Given the description of an element on the screen output the (x, y) to click on. 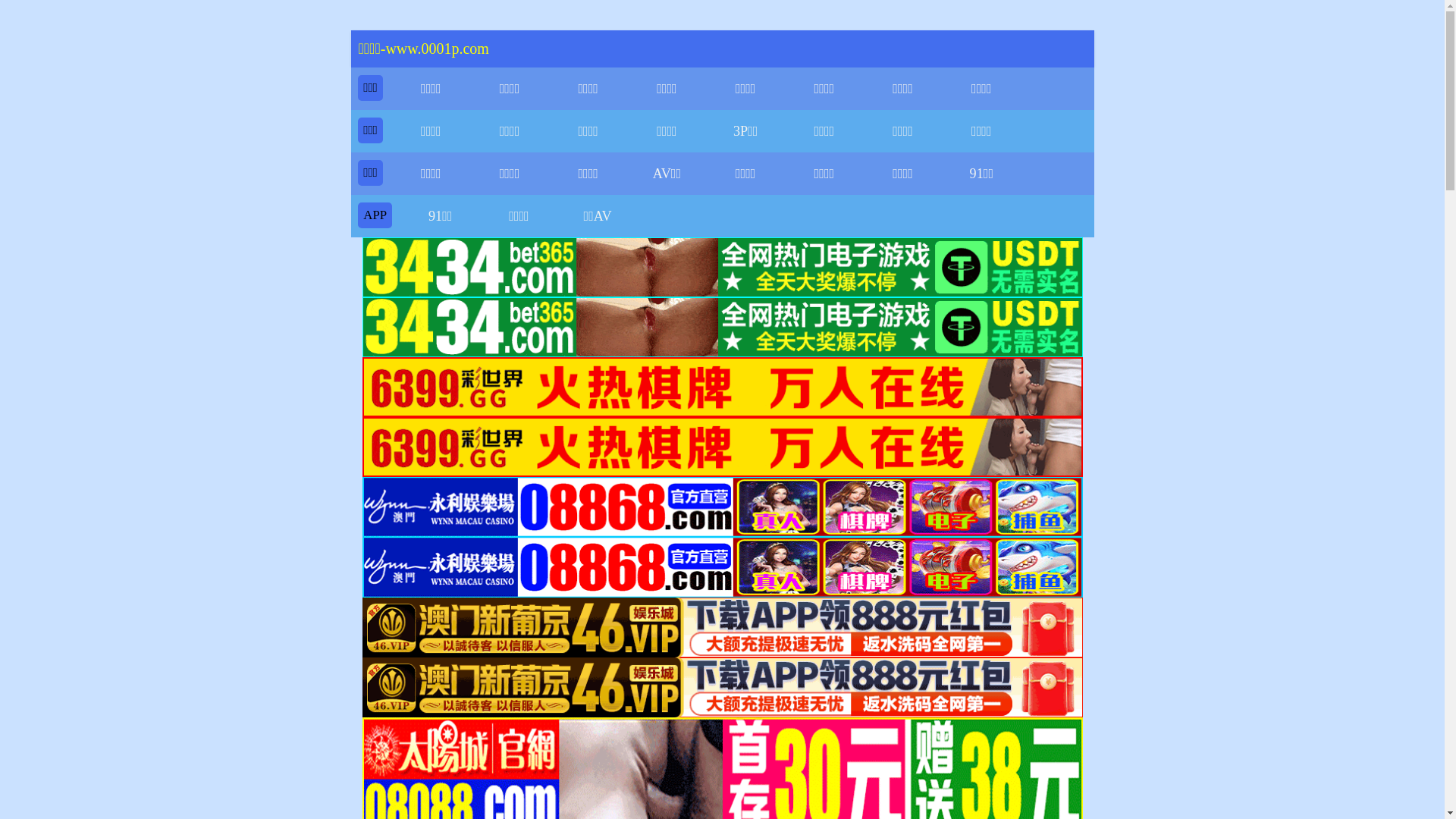
APP Element type: text (374, 214)
